Given the description of an element on the screen output the (x, y) to click on. 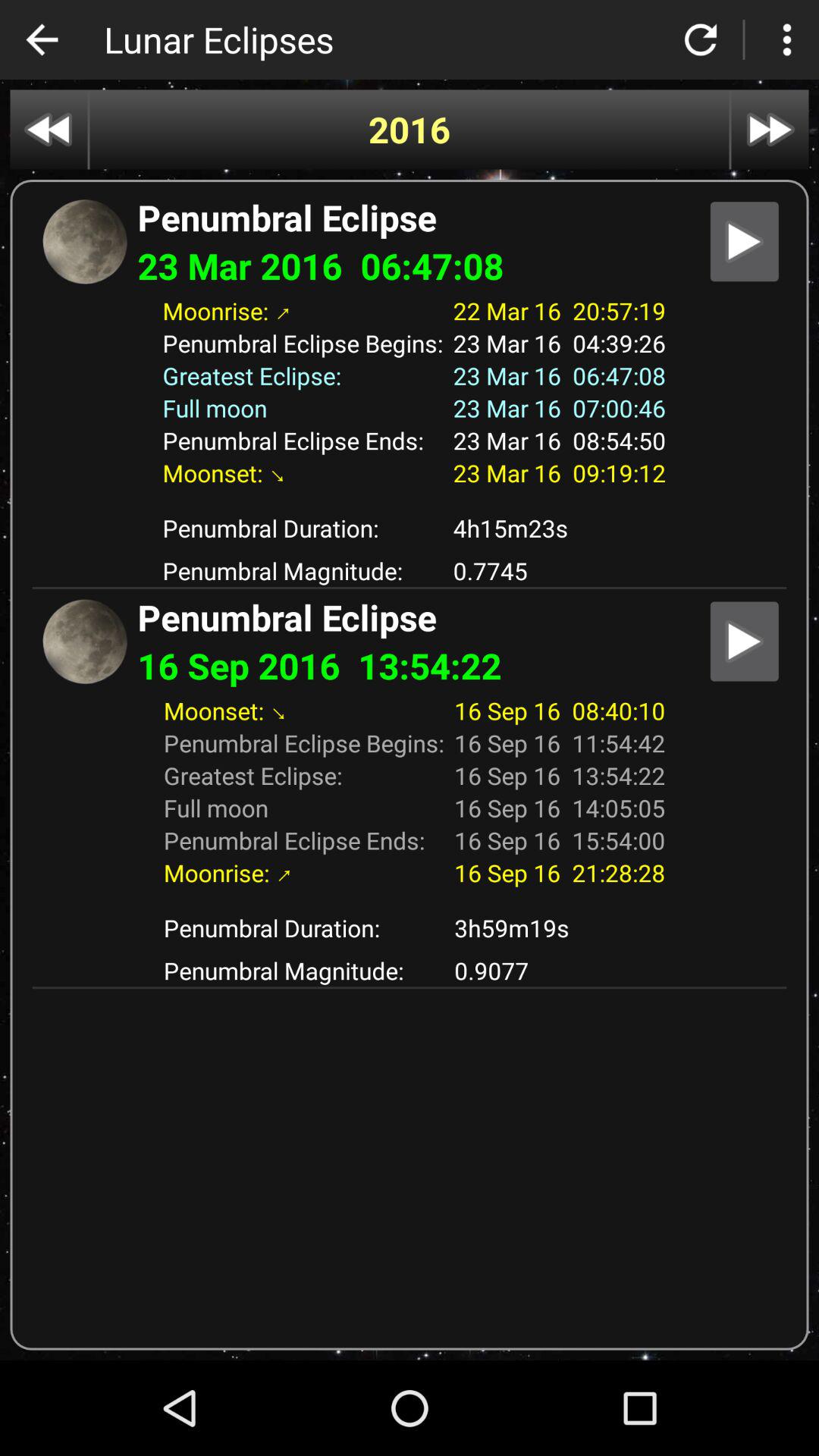
view details (744, 641)
